Given the description of an element on the screen output the (x, y) to click on. 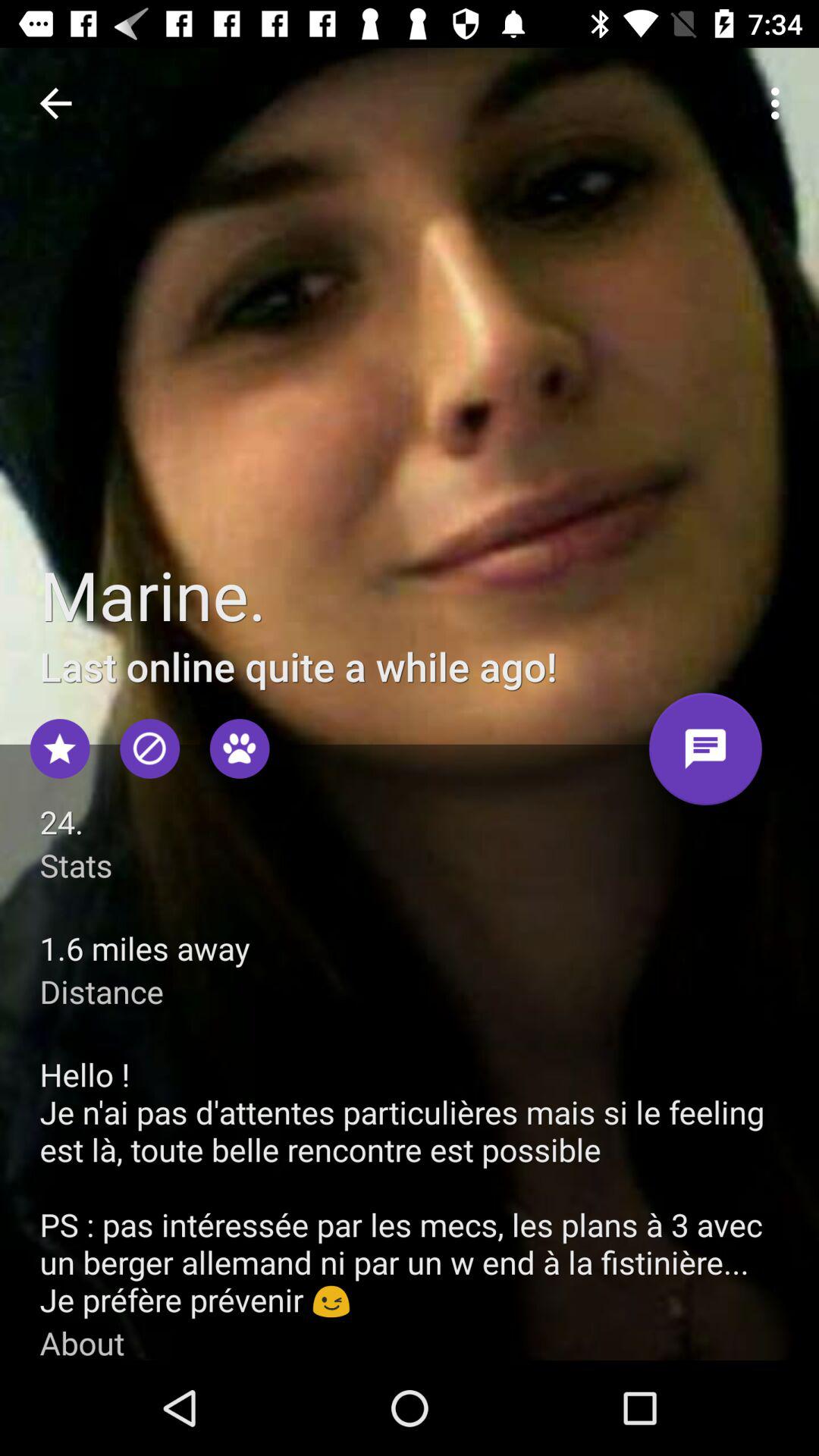
message button (705, 754)
